Given the description of an element on the screen output the (x, y) to click on. 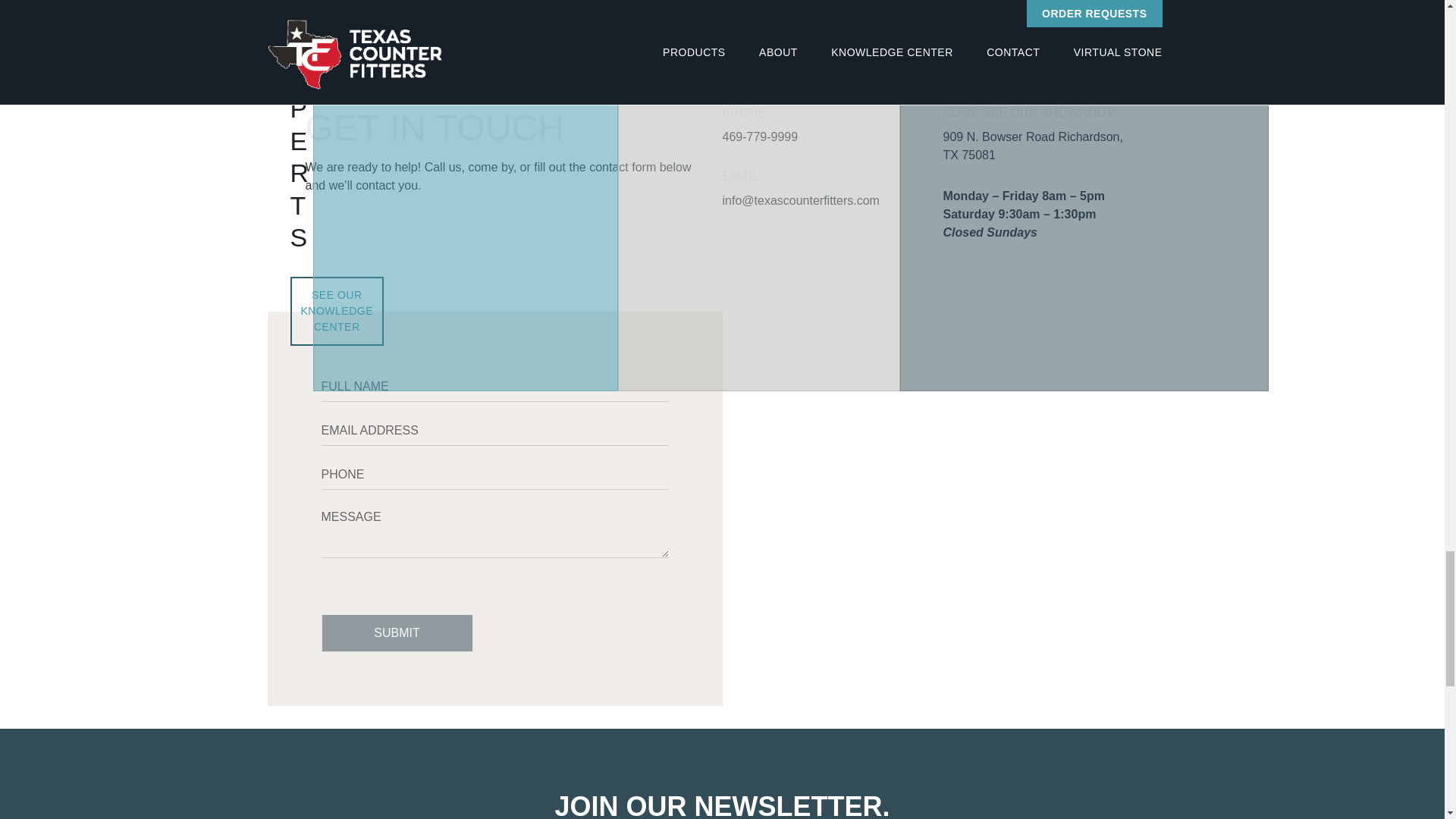
SUBMIT (397, 632)
SEE OUR KNOWLEDGE CENTER (336, 310)
